Given the description of an element on the screen output the (x, y) to click on. 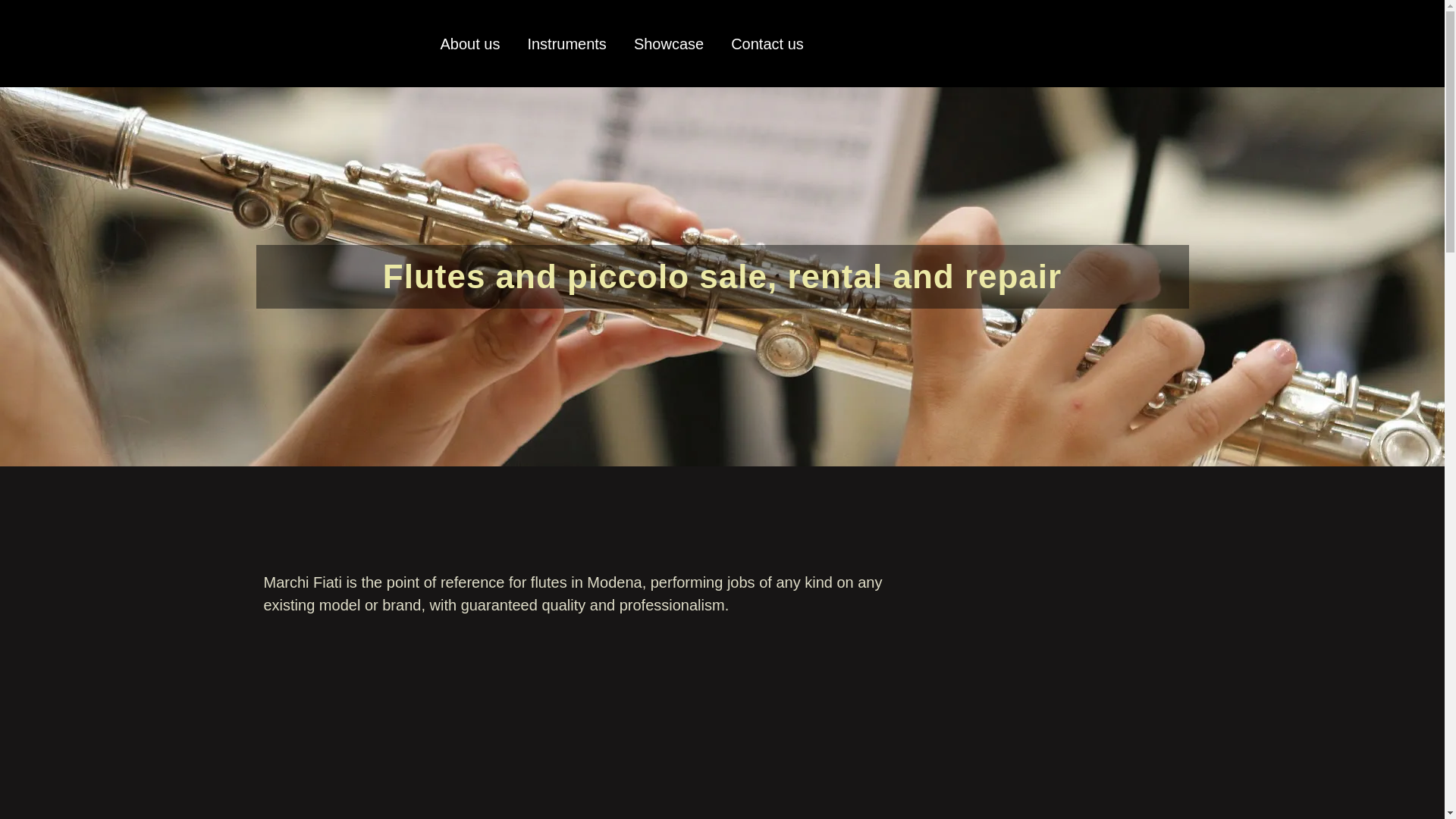
Contact us (766, 43)
Showcase (668, 43)
Instruments (566, 43)
About us (469, 43)
